Given the description of an element on the screen output the (x, y) to click on. 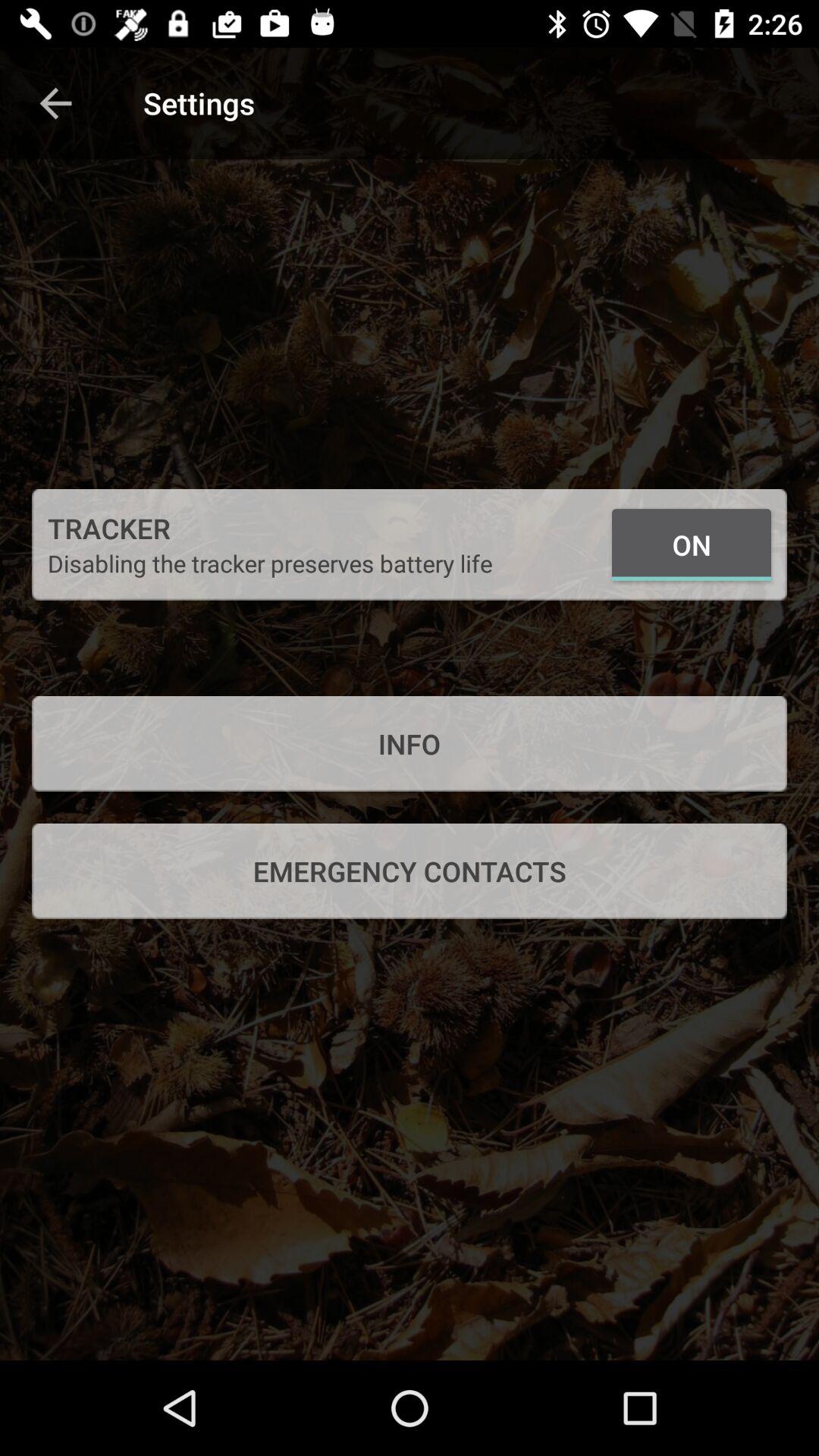
click icon below on item (409, 743)
